Given the description of an element on the screen output the (x, y) to click on. 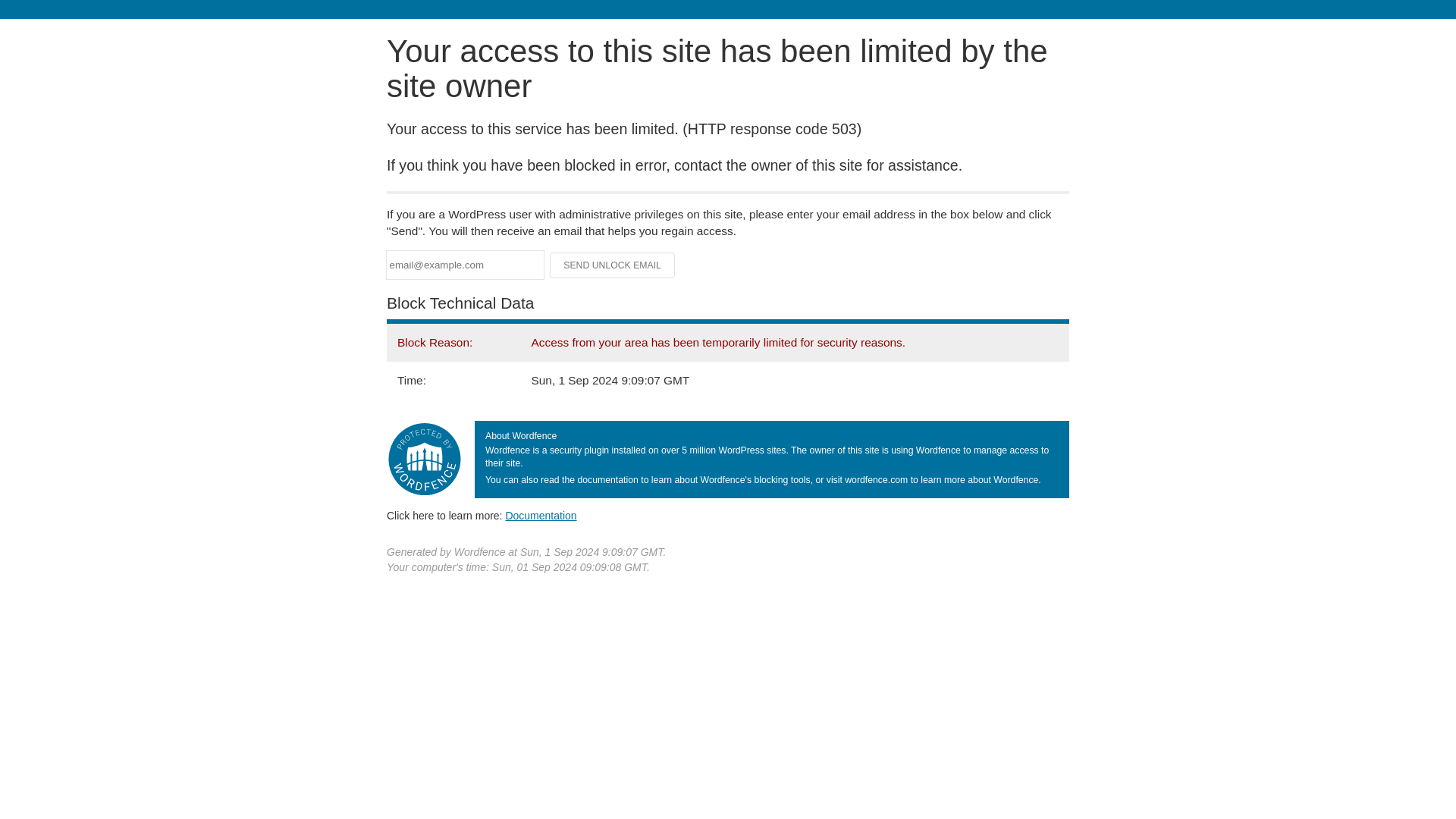
Documentation (540, 515)
Send Unlock Email (612, 265)
Send Unlock Email (612, 265)
